Given the description of an element on the screen output the (x, y) to click on. 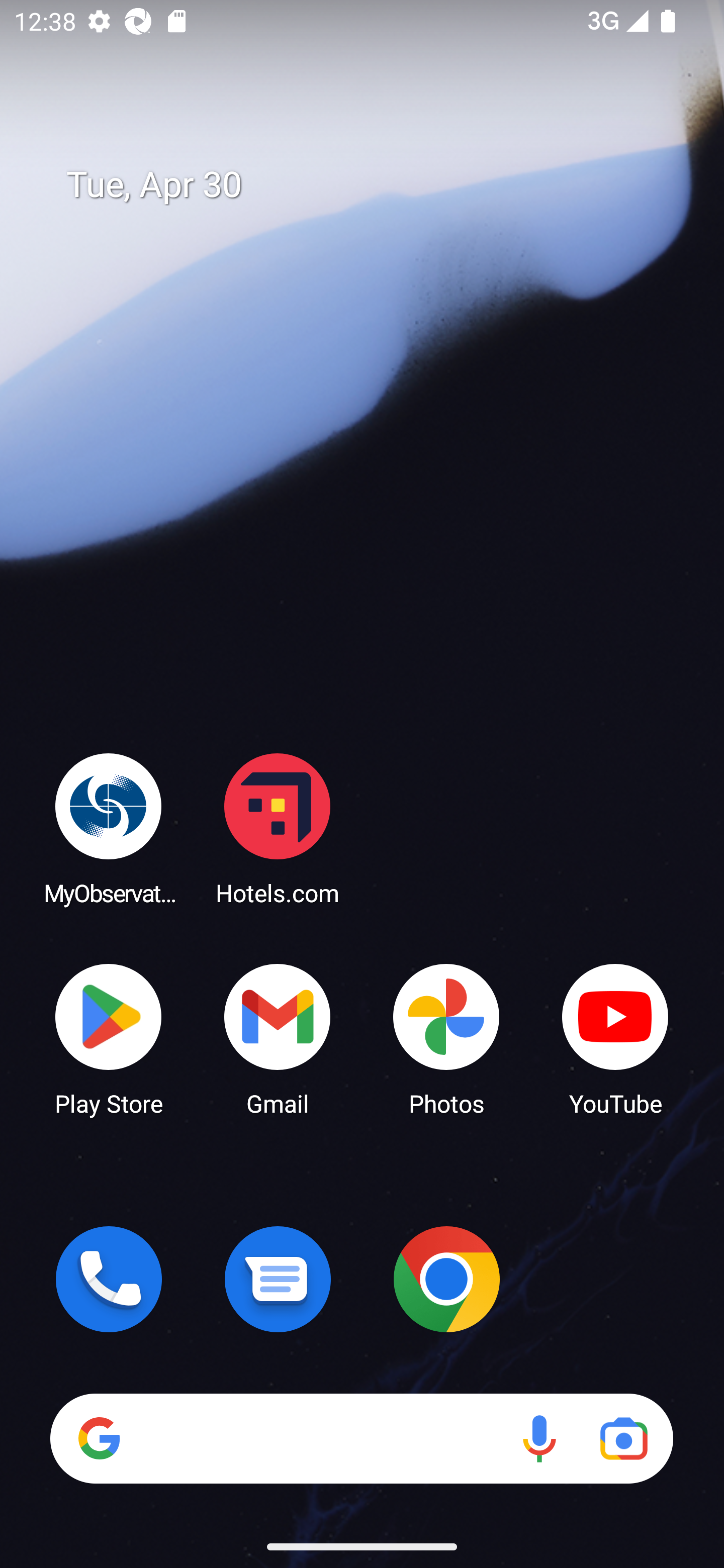
Tue, Apr 30 (375, 184)
MyObservatory (108, 828)
Hotels.com (277, 828)
Play Store (108, 1038)
Gmail (277, 1038)
Photos (445, 1038)
YouTube (615, 1038)
Phone (108, 1279)
Messages (277, 1279)
Chrome (446, 1279)
Voice search (539, 1438)
Google Lens (623, 1438)
